Given the description of an element on the screen output the (x, y) to click on. 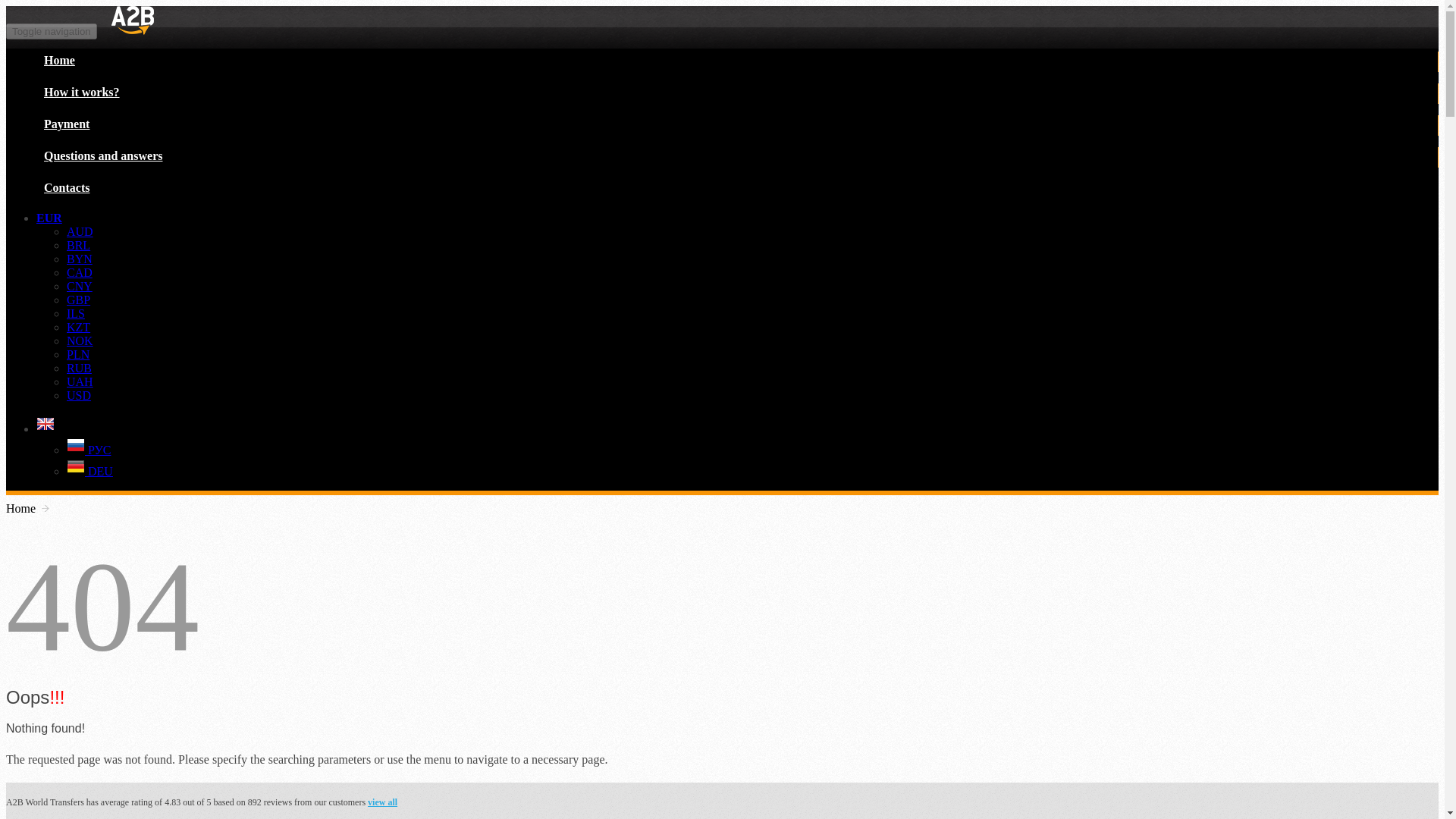
Questions and answers (103, 155)
USD (78, 395)
Home (59, 60)
Home (19, 508)
PLN (77, 354)
Toggle navigation (51, 31)
BYN (79, 258)
CAD (79, 272)
ILS (75, 313)
RUB (78, 367)
BRL (78, 245)
How it works? (82, 91)
UAH (79, 381)
GBP (78, 299)
AUD (79, 231)
